Given the description of an element on the screen output the (x, y) to click on. 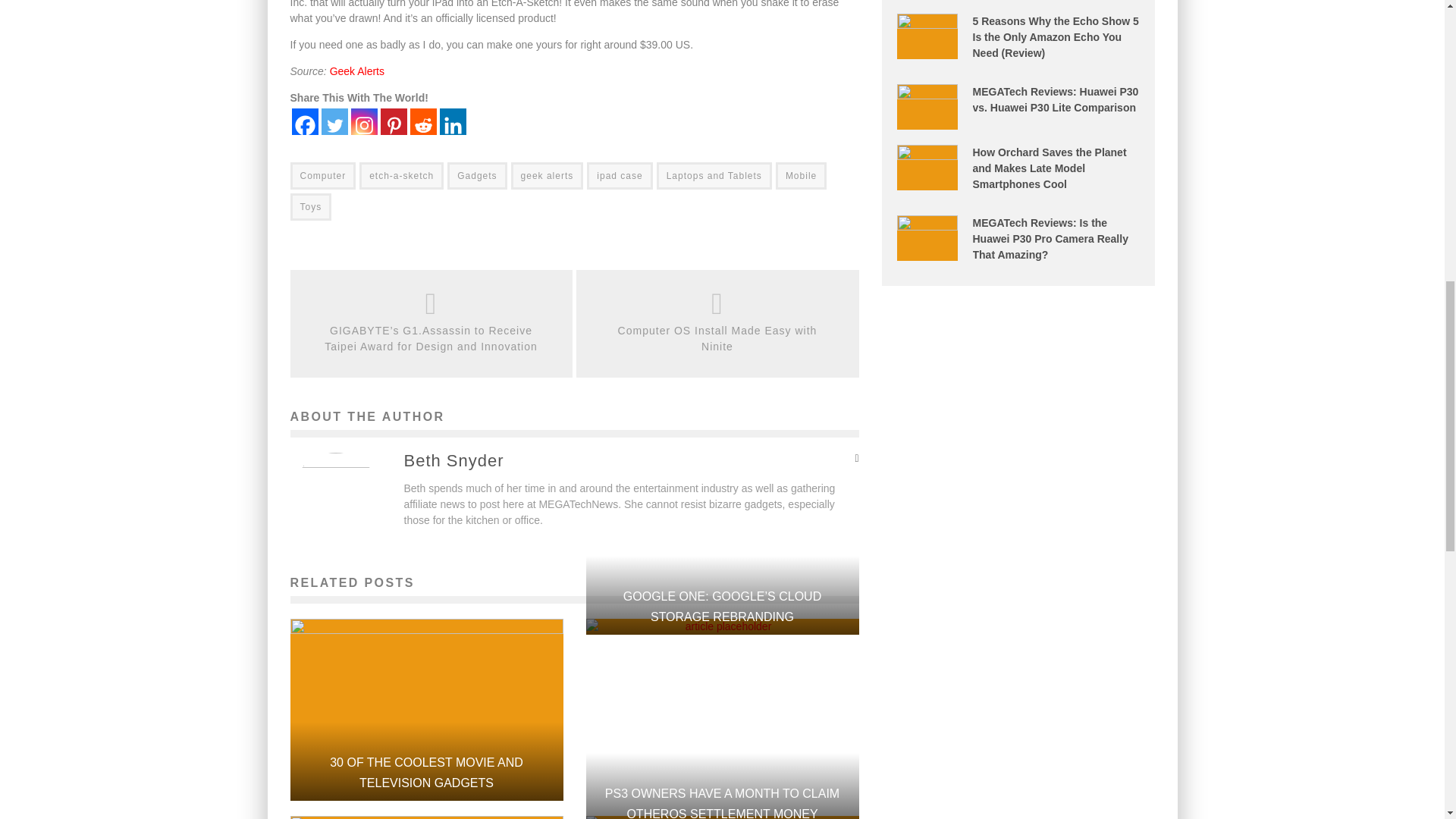
Reddit (422, 121)
Twitter (334, 121)
Linkedin (452, 121)
Instagram (363, 121)
Facebook (304, 121)
Pinterest (393, 121)
